Given the description of an element on the screen output the (x, y) to click on. 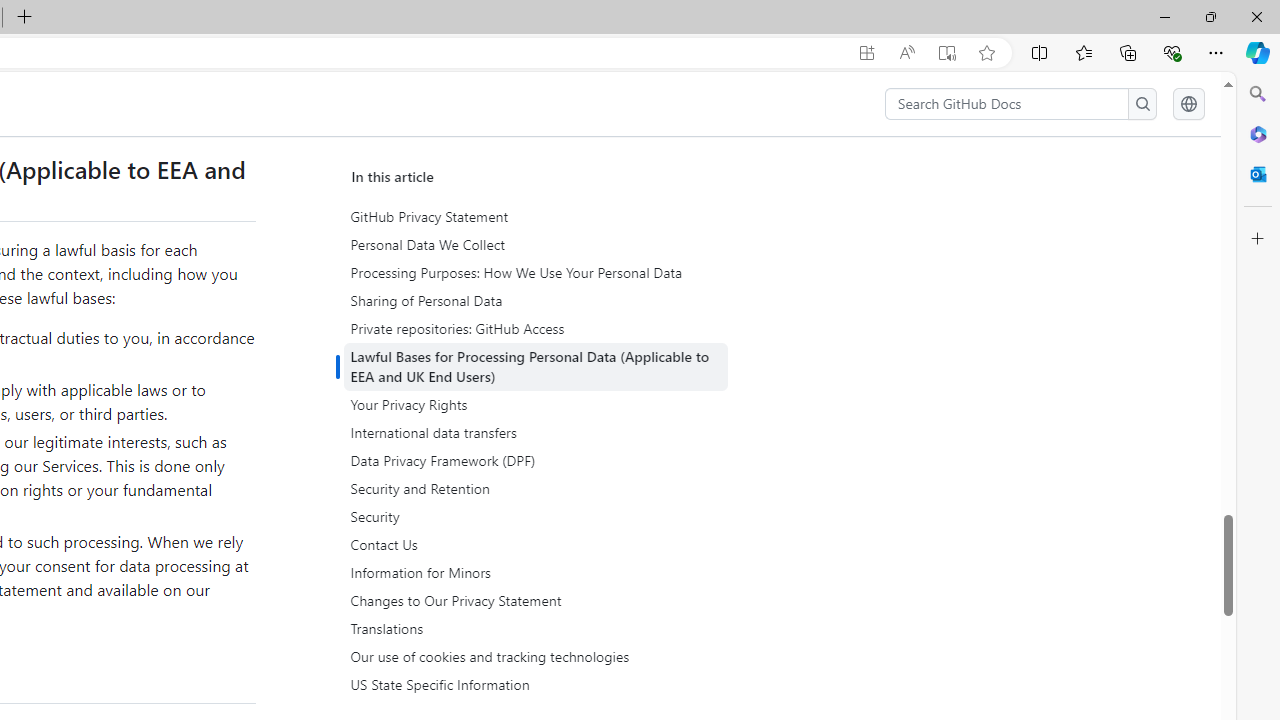
Sharing of Personal Data (535, 301)
Sharing of Personal Data (538, 301)
Translations (538, 628)
Information for Minors (535, 572)
Changes to Our Privacy Statement (538, 600)
Our use of cookies and tracking technologies (538, 656)
